Given the description of an element on the screen output the (x, y) to click on. 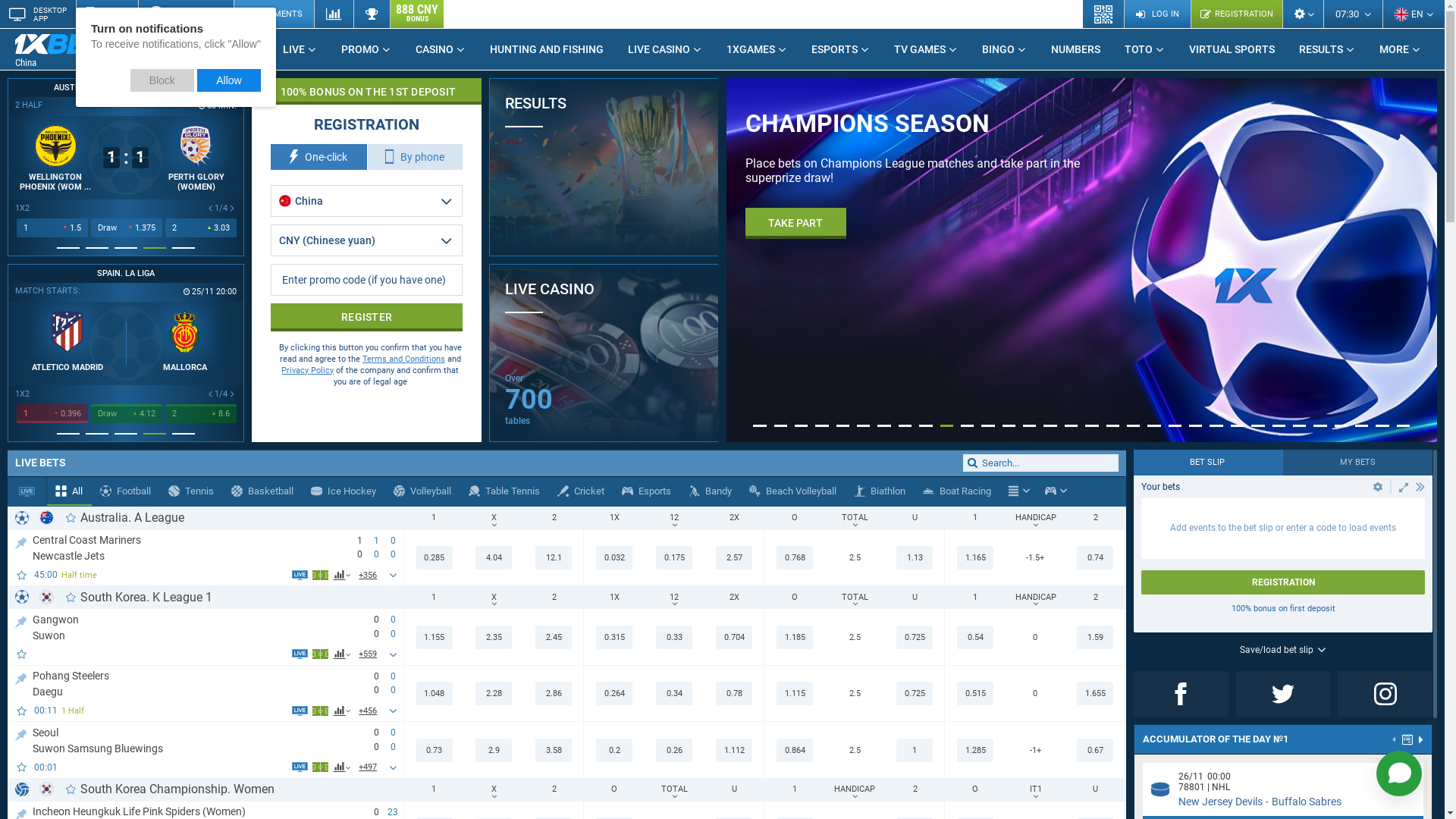
Terms and Conditions Element type: text (403, 359)
Block Element type: text (162, 80)
All Element type: text (69, 490)
GAMES
Over
100
games Element type: text (718, 397)
1XGAMES Element type: text (756, 48)
RESULTS Element type: text (1326, 48)
Gangwon
Suwon Element type: text (195, 625)
SPORTS Element type: text (232, 48)
+356 Element type: text (367, 574)
ESPORTS Element type: text (840, 48)
Draw
24 Element type: text (126, 227)
Seoul
Suwon Samsung Bluewings Element type: text (195, 738)
Save/load bet slip Element type: text (1282, 649)
SPAIN. LA LIGA Element type: text (125, 273)
Collapse/Expand Element type: hover (1403, 486)
REGISTRATION Element type: text (1282, 582)
Esports menu Element type: hover (1055, 490)
TV GAMES Element type: text (925, 48)
Privacy Policy Element type: text (307, 370)
Esports Element type: text (646, 490)
South Korea Championship. Women Element type: text (177, 788)
Show video stream Element type: hover (299, 575)
MY BETS Element type: text (1357, 462)
Settings Element type: hover (1302, 14)
Previous accumulator Element type: hover (1394, 740)
100%
BONUS ON THE 1ST DEPOSIT Element type: text (366, 91)
RESULTS Element type: text (603, 167)
China Element type: text (71, 49)
Show streaming games Element type: hover (26, 491)
Sports menu Element type: hover (1018, 490)
CASINO Element type: text (440, 48)
Add event to favorites Element type: hover (22, 575)
Beach Volleyball Element type: text (792, 490)
Esports Element type: hover (1050, 490)
BET SLIP Element type: text (1208, 462)
New Jersey DevilsBuffalo Sabres Element type: text (1259, 801)
Australia Element type: hover (46, 517)
888 CNY
BONUS Element type: text (416, 14)
Pohang Steelers
Daegu Element type: text (195, 682)
CASINO
Over
15000
games Element type: text (718, 211)
GERMANY. BUNDESLIGA Element type: text (360, 273)
Add event to favorites Element type: hover (22, 710)
REGISTRATION Element type: text (1236, 14)
Bandy Element type: text (710, 490)
2
0.256 Element type: text (200, 227)
Boat Racing Element type: text (957, 490)
MINOR HOCKEY LEAGUE Element type: text (360, 87)
South Korea Element type: hover (46, 788)
BINGO Element type: text (1003, 48)
Open Element type: hover (1377, 486)
Show video stream Element type: hover (299, 710)
2
0.706 Element type: text (200, 413)
Show video stream Element type: hover (299, 653)
Next accumulator Element type: hover (1420, 739)
Tennis Element type: text (191, 490)
1xBet Betting Company Element type: hover (60, 43)
LIVE CASINO
Over
700
tables Element type: text (603, 352)
+494 Element type: text (367, 767)
Central Coast Mariners
Newcastle Jets Element type: text (187, 547)
TOTO Element type: text (1144, 48)
LIVE CASINO Element type: text (664, 48)
Collapse block/Expand block Element type: hover (1419, 486)
LIVE Element type: text (299, 48)
South Korea Element type: hover (46, 596)
Basketball Element type: text (262, 490)
TOP Element type: hover (20, 675)
TOP Element type: hover (20, 618)
TOP Element type: hover (20, 540)
VIRTUAL SPORTS Element type: text (1231, 48)
One-click Element type: text (318, 156)
REGISTER Element type: text (792, 208)
Volleyball Element type: text (422, 490)
DESKTOP
APP Element type: text (37, 14)
1
2.76 Element type: text (51, 227)
MORE Element type: text (1400, 48)
Allow Element type: text (228, 80)
Ice Hockey Element type: text (343, 490)
Table Tennis Element type: text (504, 490)
MOBILE
APP Element type: text (106, 14)
Football Element type: text (125, 490)
BIG BASH LEAGUE. WOMEN Element type: text (125, 87)
PAYMENTS Element type: text (273, 14)
Show 1xZone Element type: hover (320, 653)
TOP Element type: hover (20, 731)
Biathlon Element type: text (879, 490)
Results Element type: hover (371, 14)
+464 Element type: text (367, 654)
QR code login Element type: hover (1103, 14)
Add event to favorites Element type: hover (22, 766)
100% bonus on first deposit Element type: text (1283, 608)
+453 Element type: text (367, 710)
Show 1xZone Element type: hover (320, 766)
Draw
3.265 Element type: text (126, 413)
Menu Element type: hover (1013, 490)
Show video stream Element type: hover (299, 766)
BETS
VIA TELEGRAM Element type: text (185, 14)
Show 1xZone Element type: hover (320, 710)
1
4.13 Element type: text (51, 413)
By phone Element type: text (415, 156)
NUMBERS Element type: text (1075, 48)
NEW Element type: text (124, 42)
Cricket Element type: text (581, 490)
Promo code Element type: hover (366, 279)
Statistics Element type: hover (333, 14)
South Korea. K League 1 Element type: text (146, 596)
Australia. A League Element type: text (132, 517)
PROMO Element type: text (366, 48)
Show 1xZone Element type: hover (320, 575)
Add event to favorites Element type: hover (22, 653)
HUNTING AND FISHING Element type: text (546, 48)
